Given the description of an element on the screen output the (x, y) to click on. 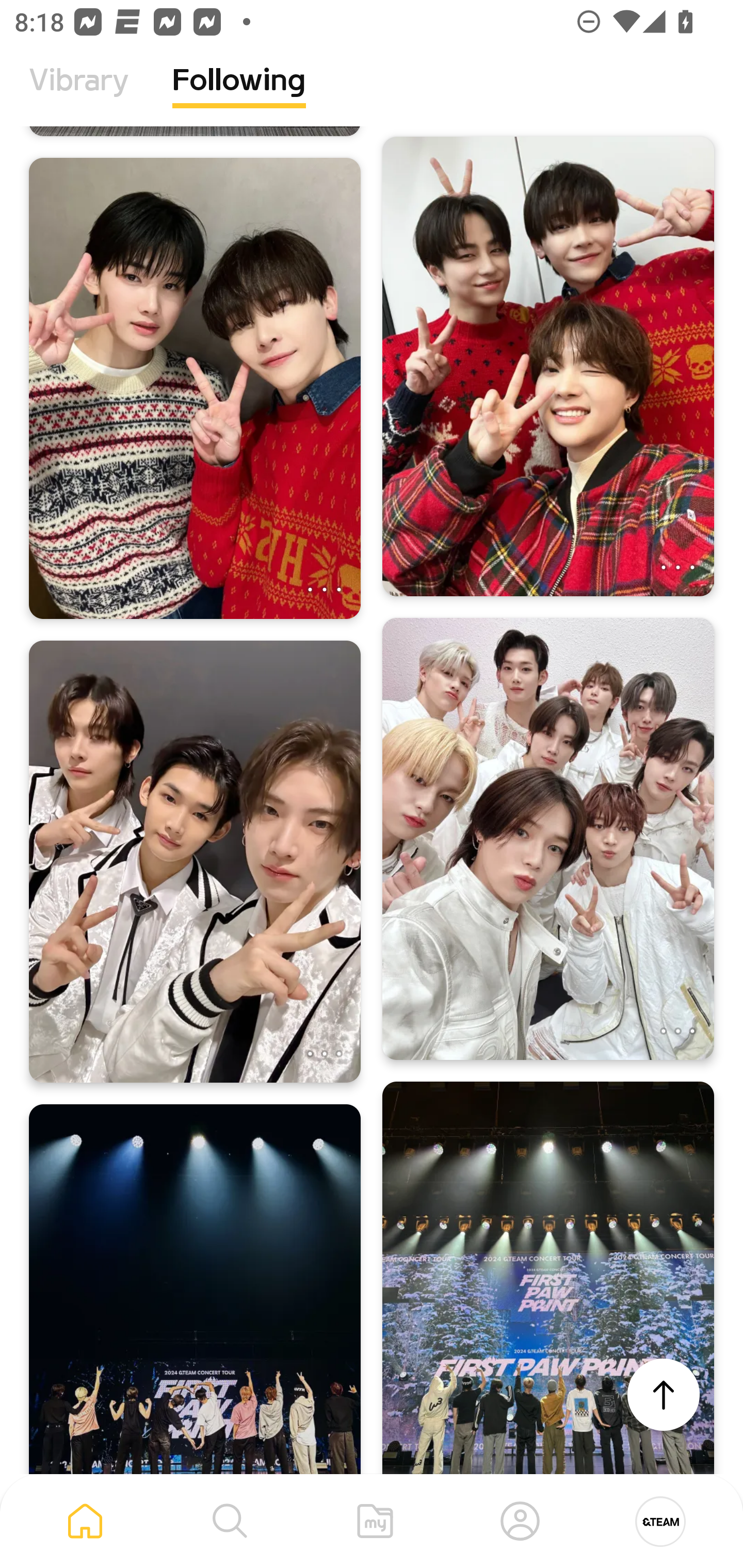
Vibrary (78, 95)
Following (239, 95)
